Given the description of an element on the screen output the (x, y) to click on. 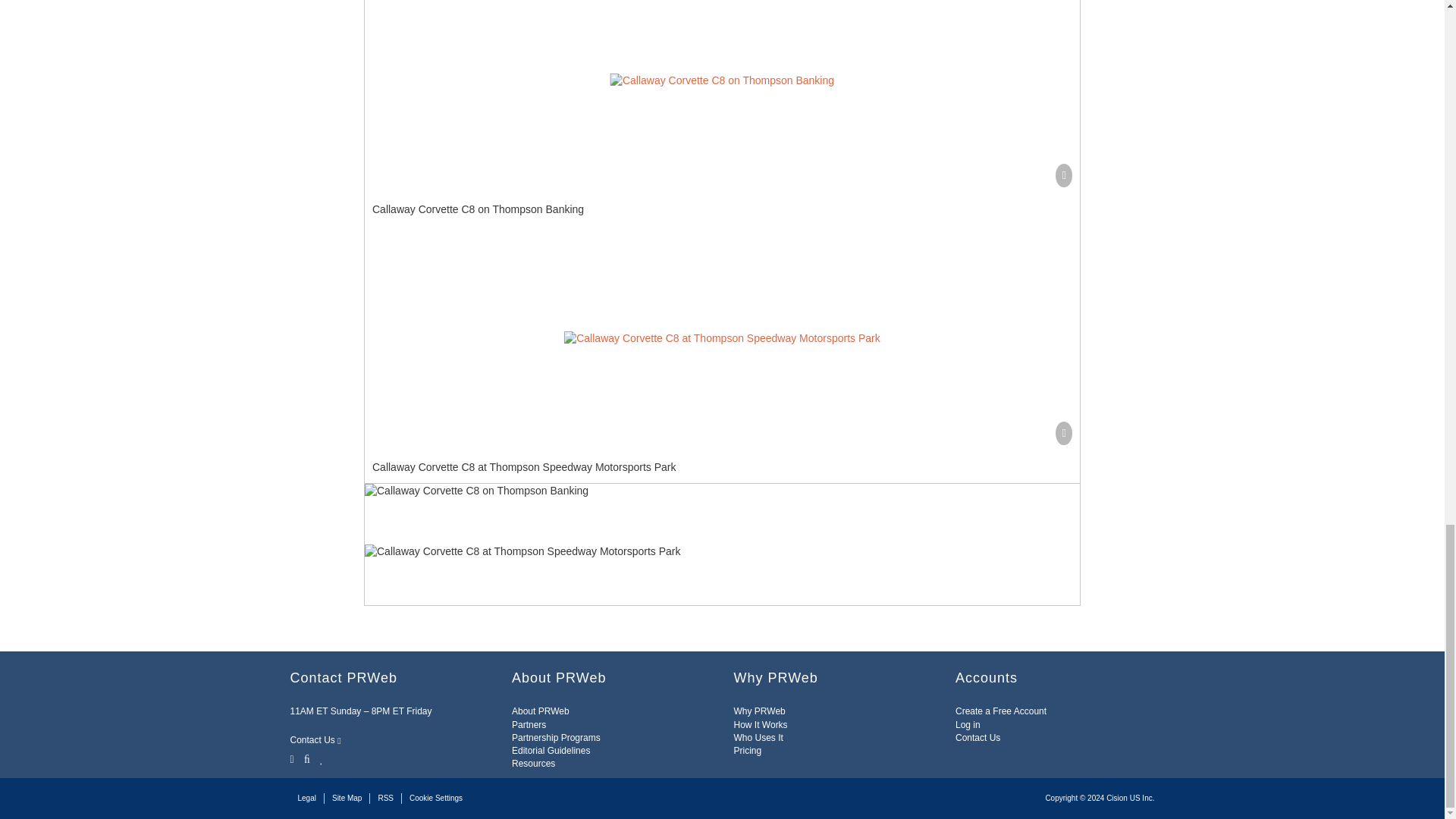
How It Works (760, 724)
Partnership Programs (555, 737)
Editorial Guidelines (550, 750)
Resources (533, 763)
About PRWeb (540, 710)
Why PRWeb (759, 710)
Facebook (306, 758)
Partners (529, 724)
